Given the description of an element on the screen output the (x, y) to click on. 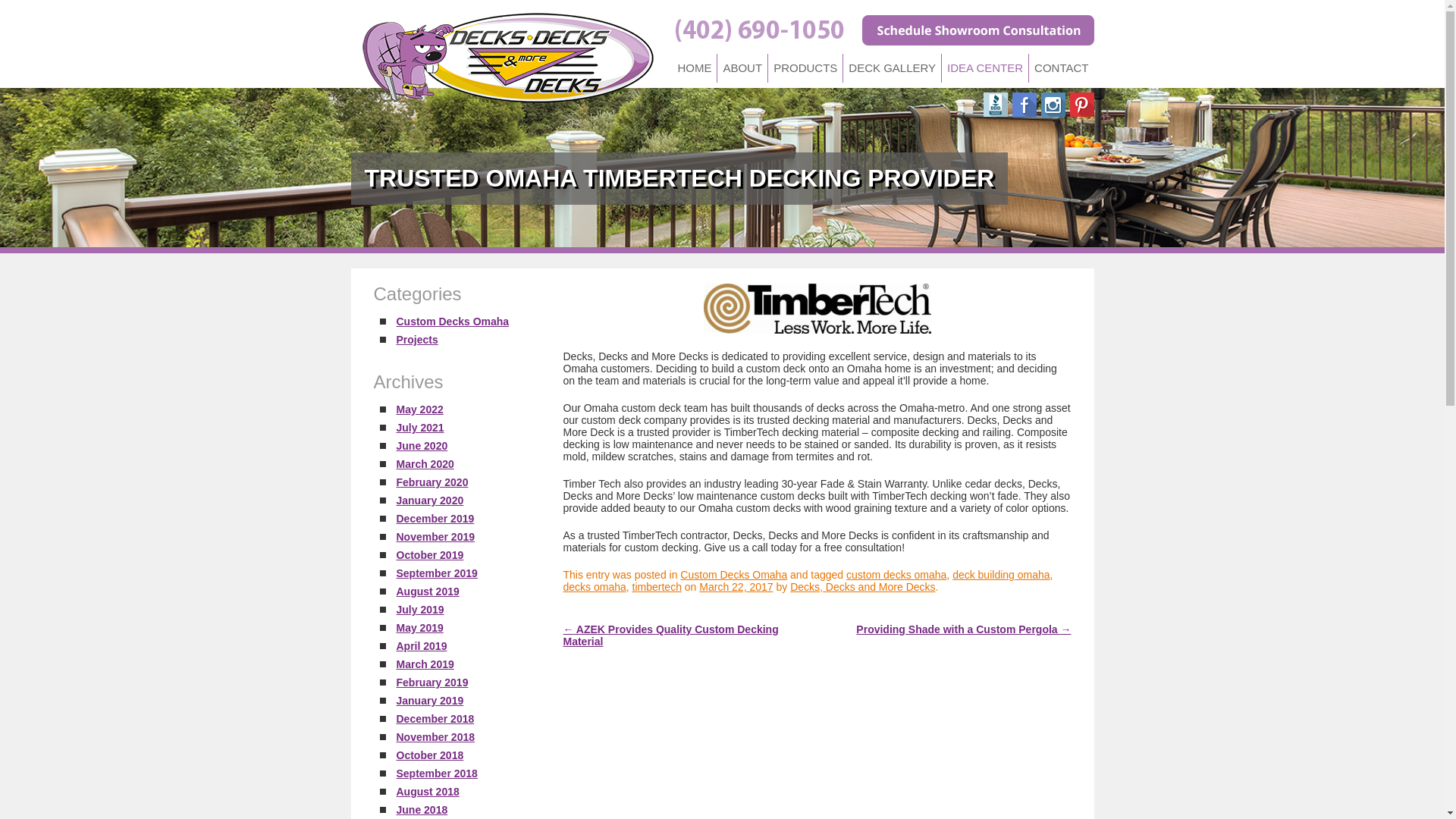
IDEA CENTER (983, 68)
July 2021 (420, 427)
PRODUCTS (805, 68)
HOME (693, 68)
Custom Decks Omaha (452, 321)
June 2020 (421, 445)
3:06 pm (735, 586)
January 2020 (429, 500)
March 2020 (424, 463)
CONTACT (1060, 68)
Schedule Consultation (977, 30)
ABOUT (741, 68)
Decks, Decks, and More Decks (506, 58)
February 2020 (431, 481)
Projects (417, 339)
